Given the description of an element on the screen output the (x, y) to click on. 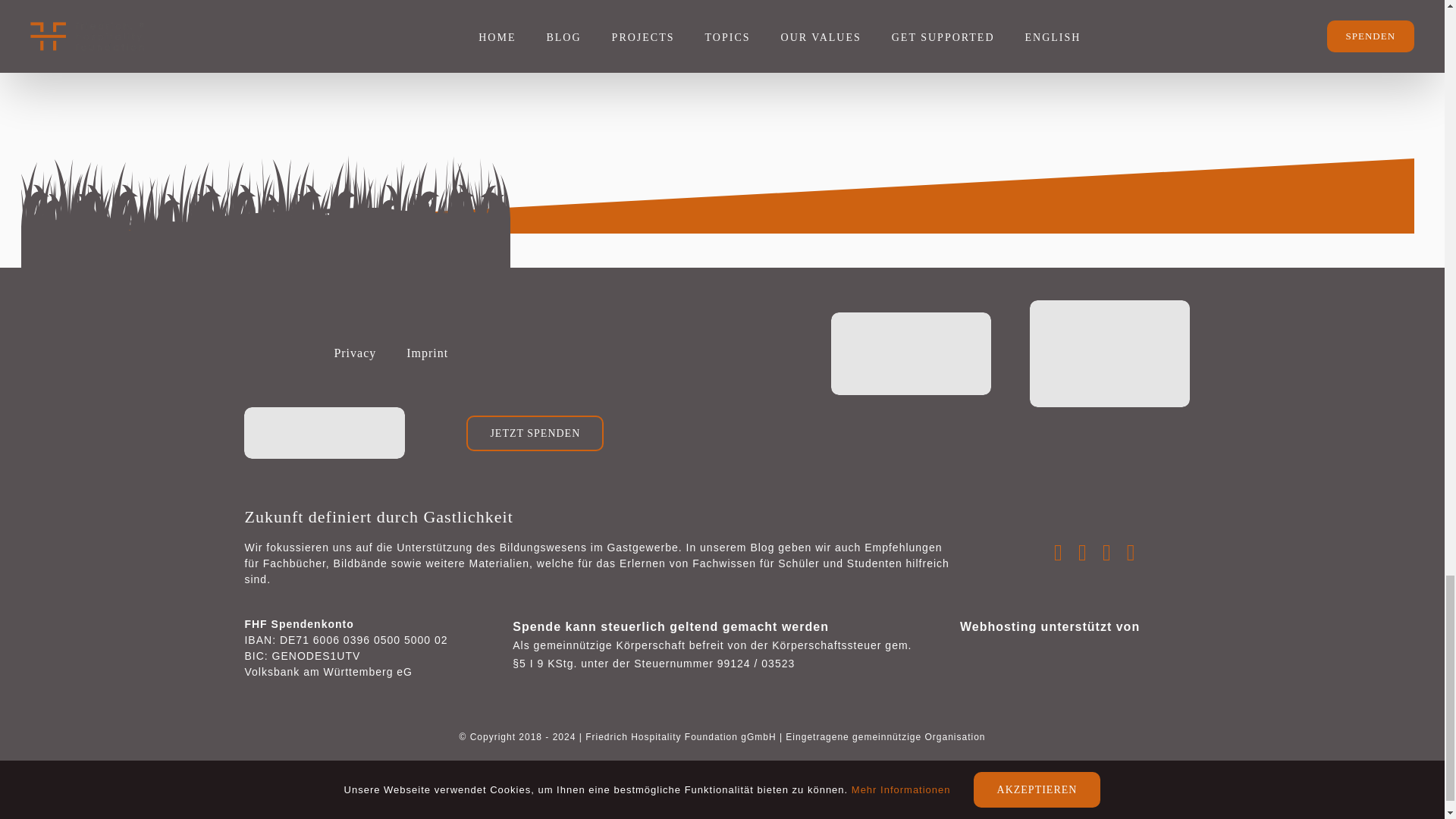
Hotel Management II: Career Opportunity for Young People (767, 9)
Hotel Management II: Career Opportunity for Young People (767, 9)
0 Comments (1117, 17)
